Given the description of an element on the screen output the (x, y) to click on. 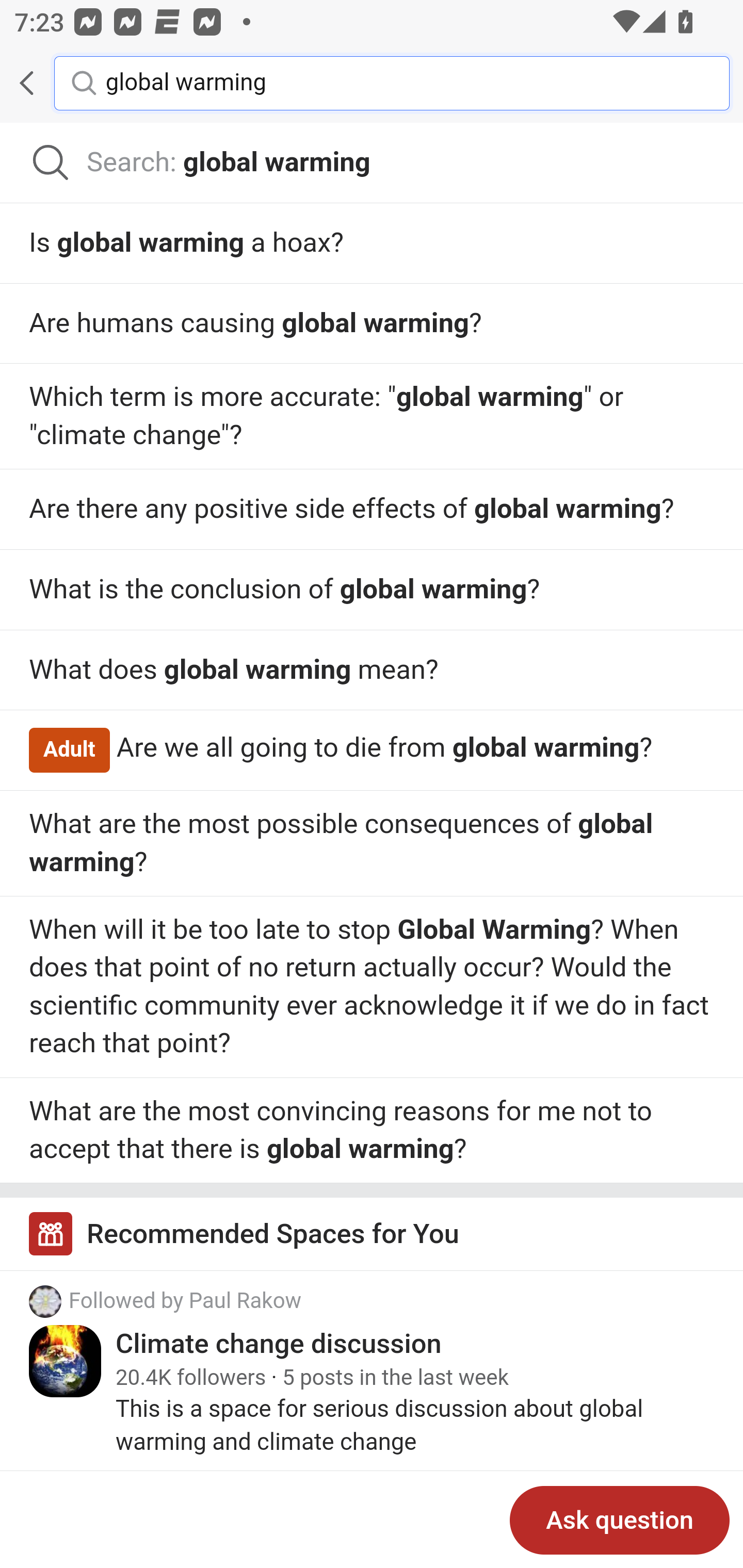
Me Home Search Add (371, 82)
global warming (402, 82)
Search: gl (371, 162)
Is global warming a hoax? (371, 243)
Are humans causing global warming? (371, 323)
Adult Are we heading towards World War III? (371, 415)
What is the conclusion of global warming? (371, 589)
What is the conclusion of global warming? (371, 843)
What does global warming mean? (371, 986)
Icon for Climate change discussion (65, 1361)
